Given the description of an element on the screen output the (x, y) to click on. 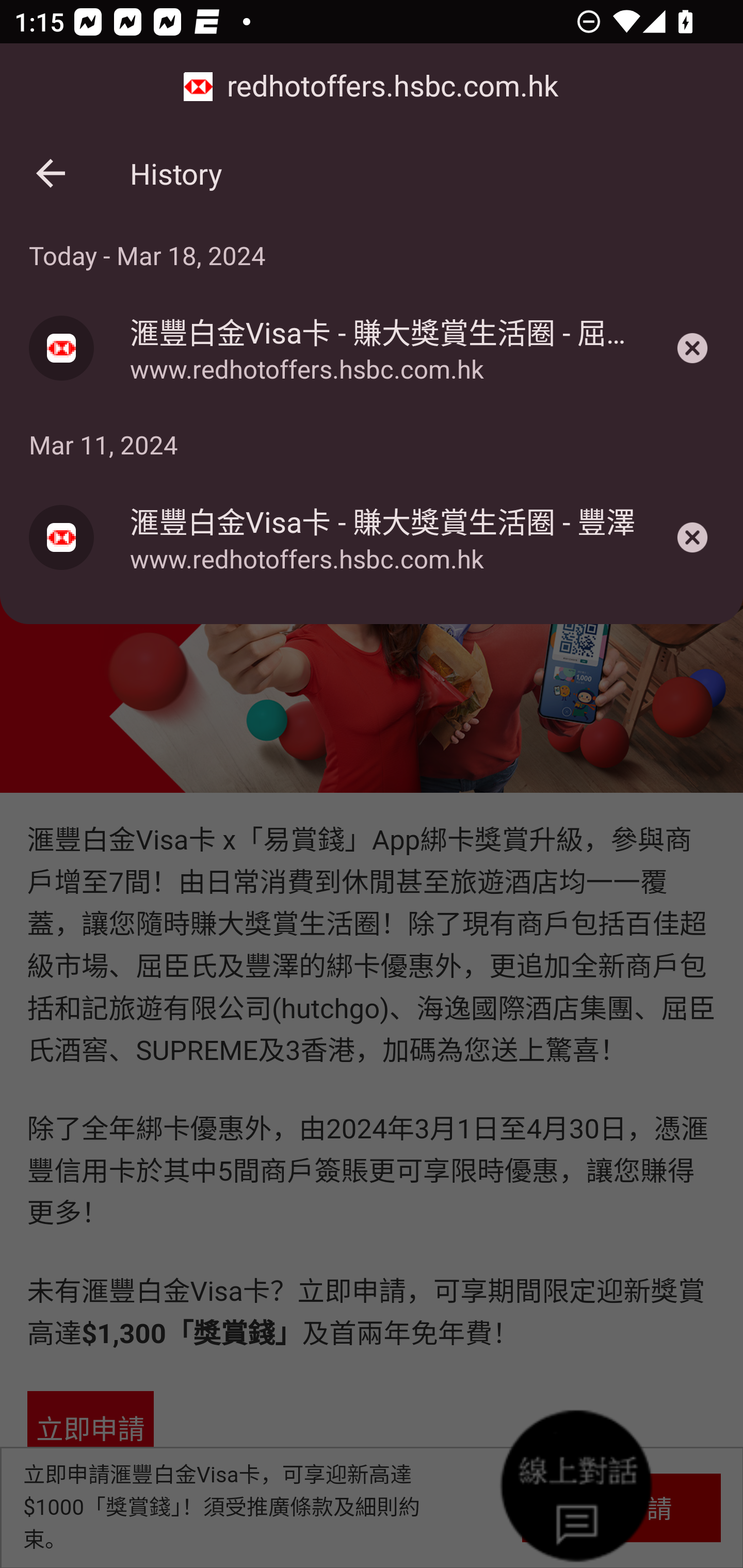
redhotoffers.hsbc.com.hk (371, 86)
Back (50, 173)
滙豐白金Visa卡 - 賺大獎賞生活圈 - 屈臣氏酒窖 Remove (692, 348)
滙豐白金Visa卡 - 賺大獎賞生活圈 - 豐澤 Remove (692, 537)
